Given the description of an element on the screen output the (x, y) to click on. 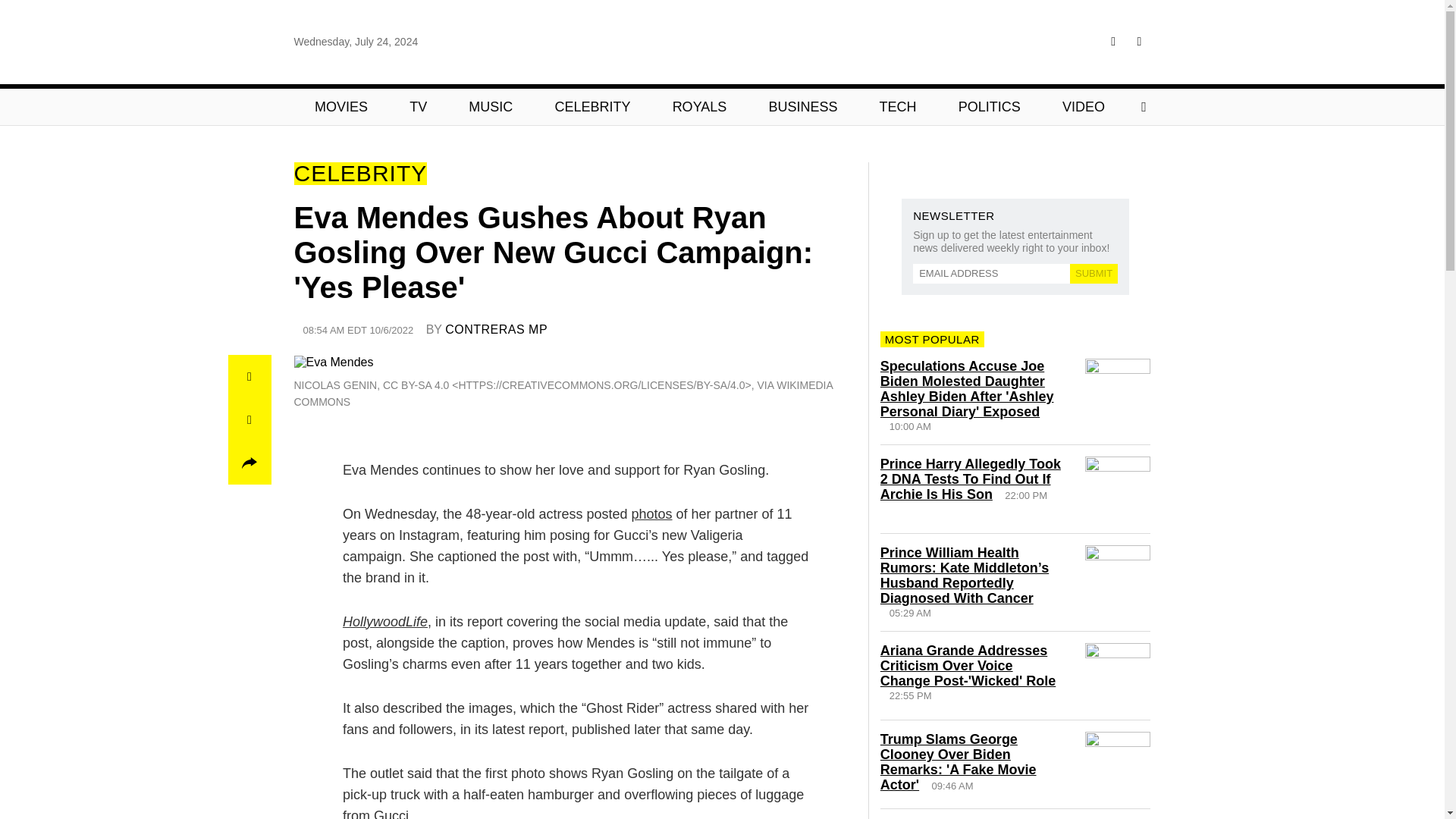
VIDEO (1083, 106)
BUSINESS (803, 106)
TECH (898, 106)
CELEBRITY (592, 106)
TV (418, 106)
Submit (1094, 273)
MUSIC (491, 106)
Search (435, 106)
POLITICS (989, 106)
ROYALS (699, 106)
photos (650, 513)
